Given the description of an element on the screen output the (x, y) to click on. 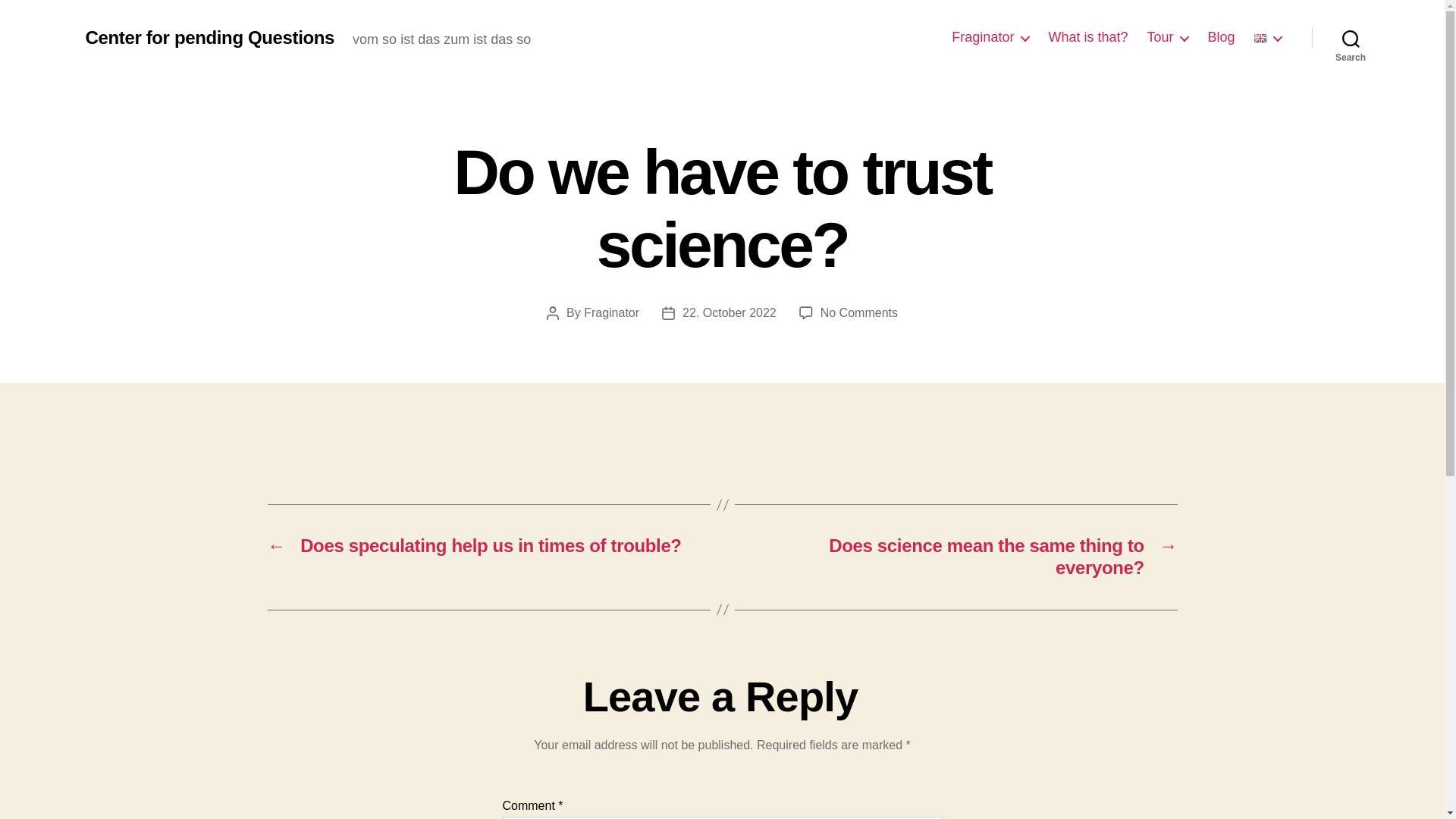
Center for pending Questions (209, 37)
Search (1350, 37)
Blog (1220, 37)
Fraginator (990, 37)
Tour (1167, 37)
What is that? (1087, 37)
